Given the description of an element on the screen output the (x, y) to click on. 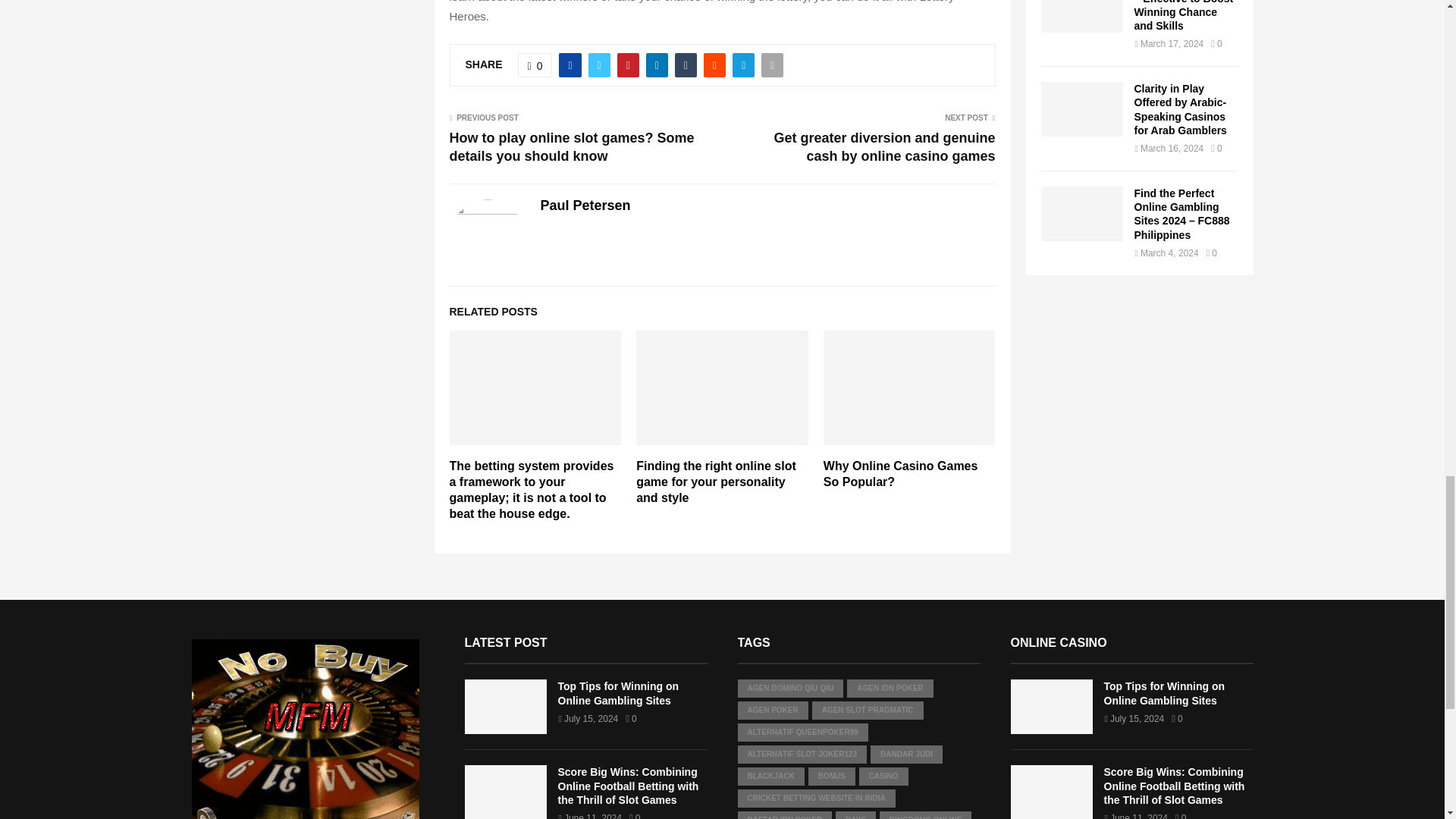
Like (535, 64)
